Given the description of an element on the screen output the (x, y) to click on. 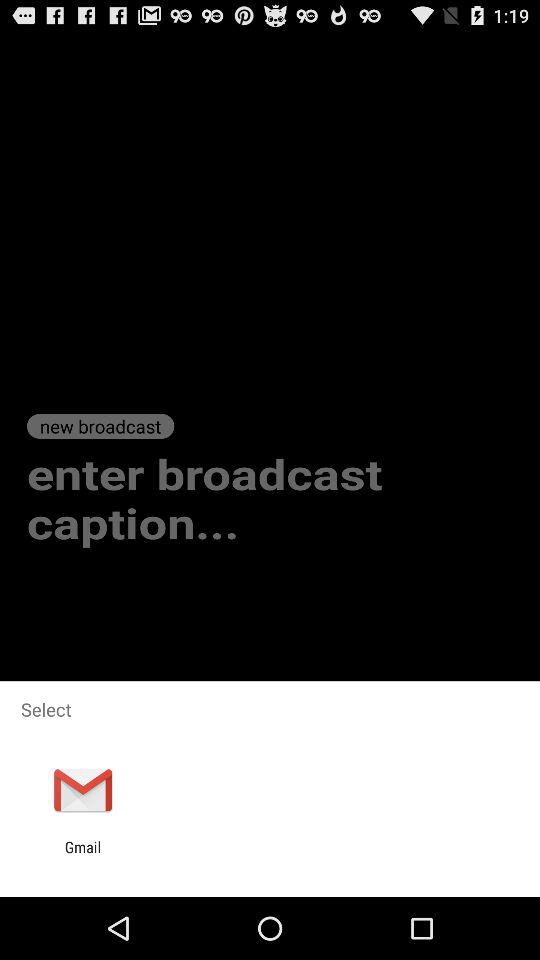
jump to the gmail (82, 856)
